Given the description of an element on the screen output the (x, y) to click on. 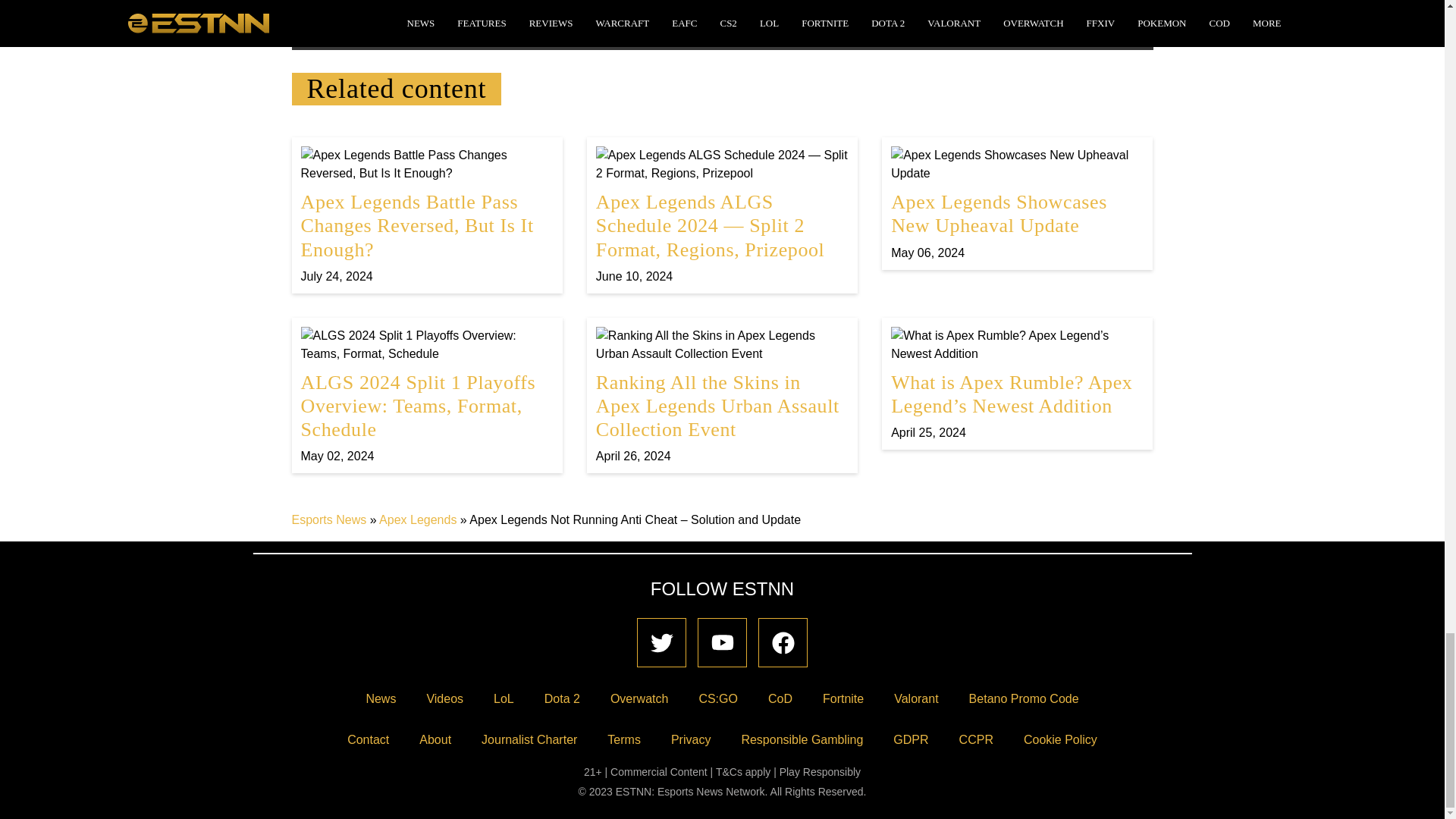
Apex Legends Showcases New Upheaval Update (1016, 203)
Apex Legends Battle Pass Changes Reversed, But Is It Enough? (426, 215)
ALGS 2024 Split 1 Playoffs Overview: Teams, Format, Schedule (426, 395)
